Given the description of an element on the screen output the (x, y) to click on. 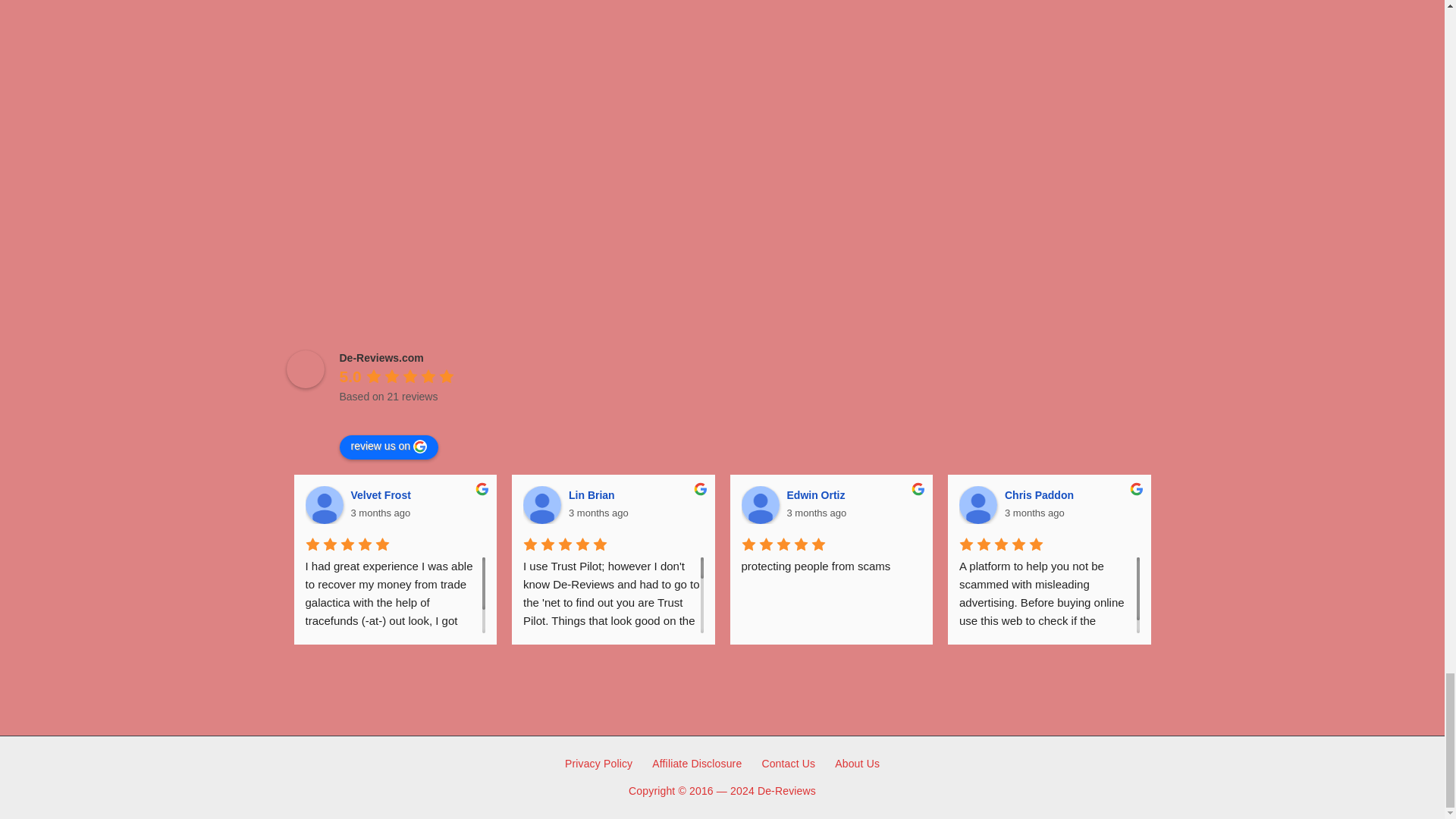
Edwin Ortiz (759, 505)
Chris Paddon (978, 505)
Lin Brian (541, 505)
powered by Google (393, 415)
Velvet Frost (323, 505)
De-Reviews.com (305, 369)
De-Reviews (786, 790)
